Given the description of an element on the screen output the (x, y) to click on. 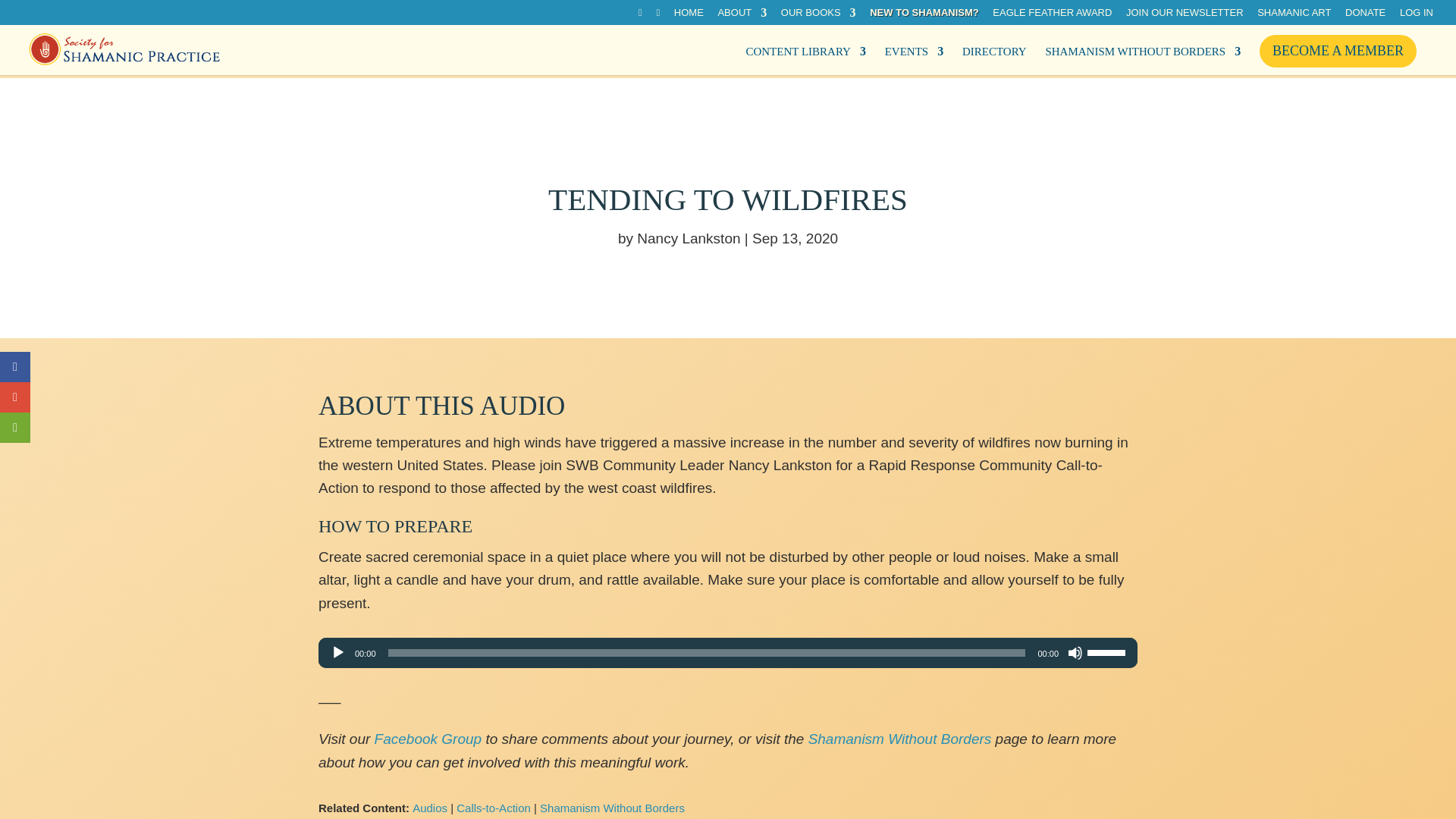
HOME (688, 16)
Posts by Nancy Lankston (688, 238)
EAGLE FEATHER AWARD (1052, 16)
Play (338, 652)
ABOUT (742, 16)
Mute (1075, 652)
OUR BOOKS (818, 16)
NEW TO SHAMANISM? (923, 16)
LOG IN (1415, 16)
DONATE (1365, 16)
